Given the description of an element on the screen output the (x, y) to click on. 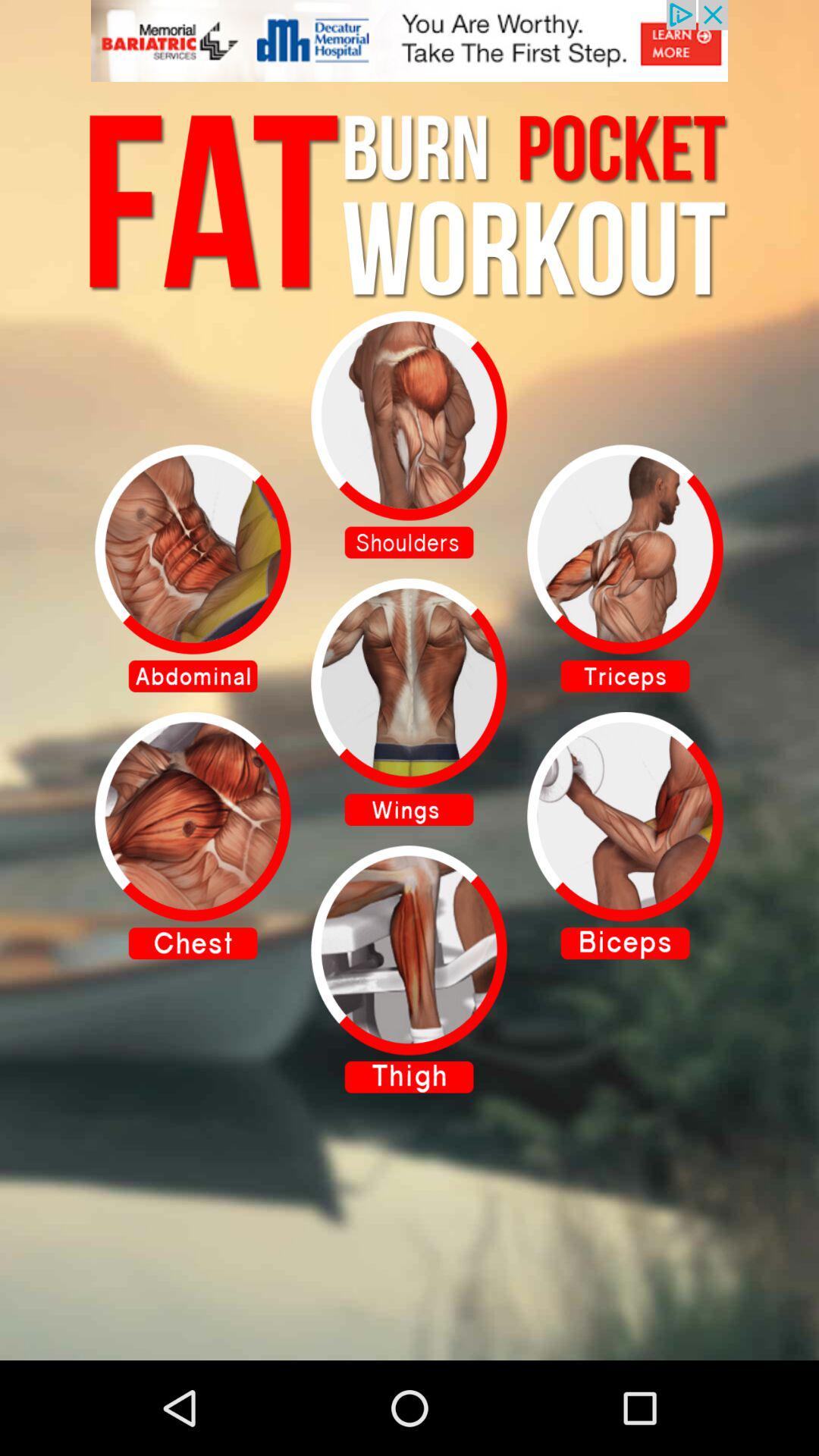
go to image (625, 568)
